Given the description of an element on the screen output the (x, y) to click on. 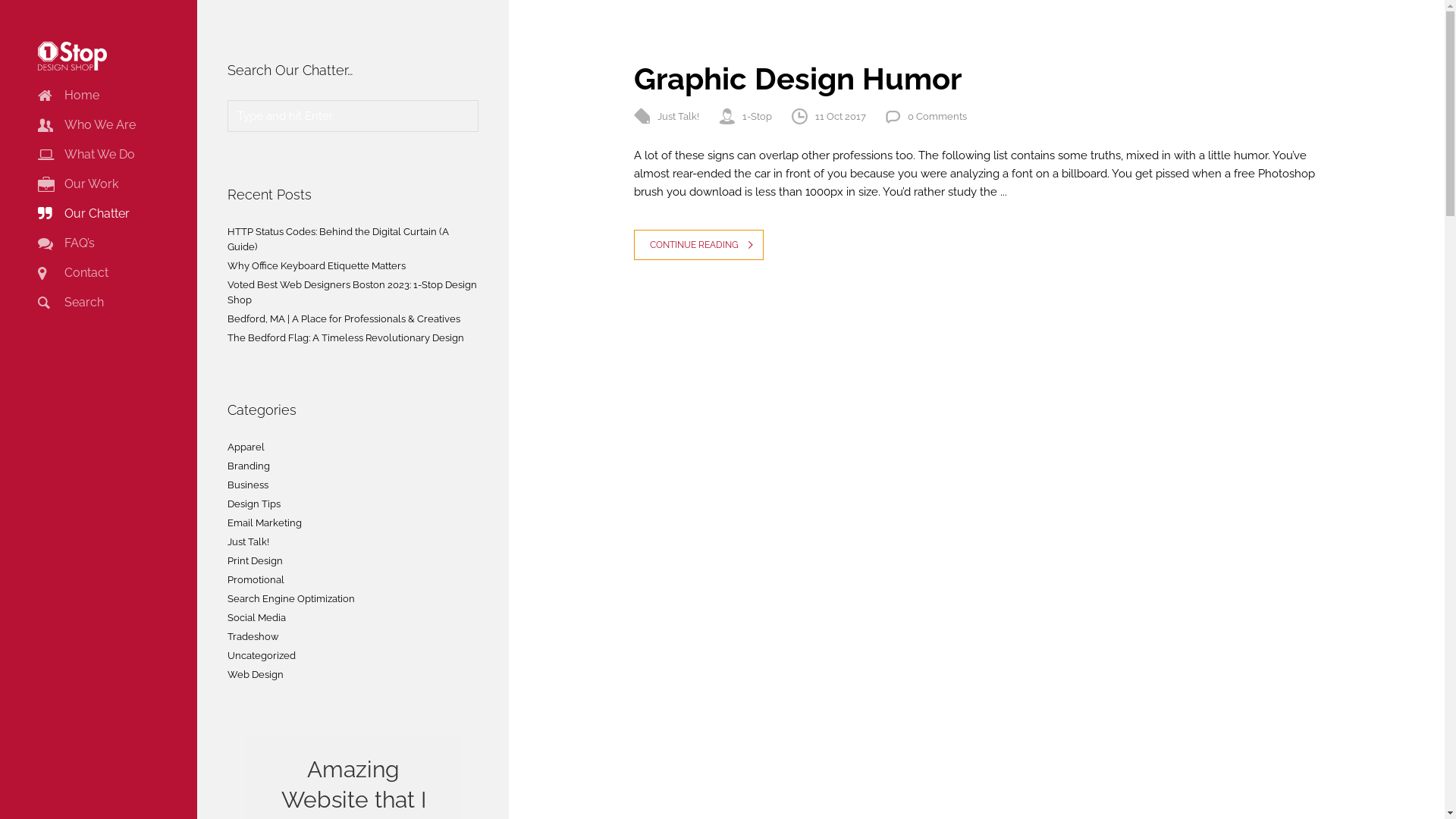
Promotional Element type: text (255, 580)
Just Talk! Element type: text (678, 116)
What We Do Element type: text (85, 154)
Voted Best Web Designers Boston 2023: 1-Stop Design Shop Element type: text (351, 292)
Contact Element type: text (72, 272)
Home Element type: text (68, 95)
Why Office Keyboard Etiquette Matters Element type: text (316, 266)
Bedford, MA | A Place for Professionals & Creatives Element type: text (343, 319)
HTTP Status Codes: Behind the Digital Curtain (A Guide) Element type: text (337, 239)
The Bedford Flag: A Timeless Revolutionary Design Element type: text (345, 338)
Tradeshow Element type: text (253, 636)
0 Comments Element type: text (936, 116)
Print Design Element type: text (254, 561)
Design Tips Element type: text (253, 504)
Apparel Element type: text (245, 447)
Email Marketing Element type: text (264, 523)
Social Media Element type: text (256, 617)
Branding Element type: text (248, 466)
Who We Are Element type: text (86, 125)
Web Design Element type: text (255, 674)
Graphic Design Humor Element type: text (797, 78)
Our Chatter Element type: text (83, 213)
Business Element type: text (247, 485)
Uncategorized Element type: text (261, 655)
CONTINUE READING Element type: text (698, 244)
11 Oct 2017 Element type: text (840, 116)
Just Talk! Element type: text (248, 542)
Search Engine Optimization Element type: text (290, 599)
Search Element type: text (70, 302)
1-Stop Element type: text (756, 116)
Our Work Element type: text (77, 184)
